Given the description of an element on the screen output the (x, y) to click on. 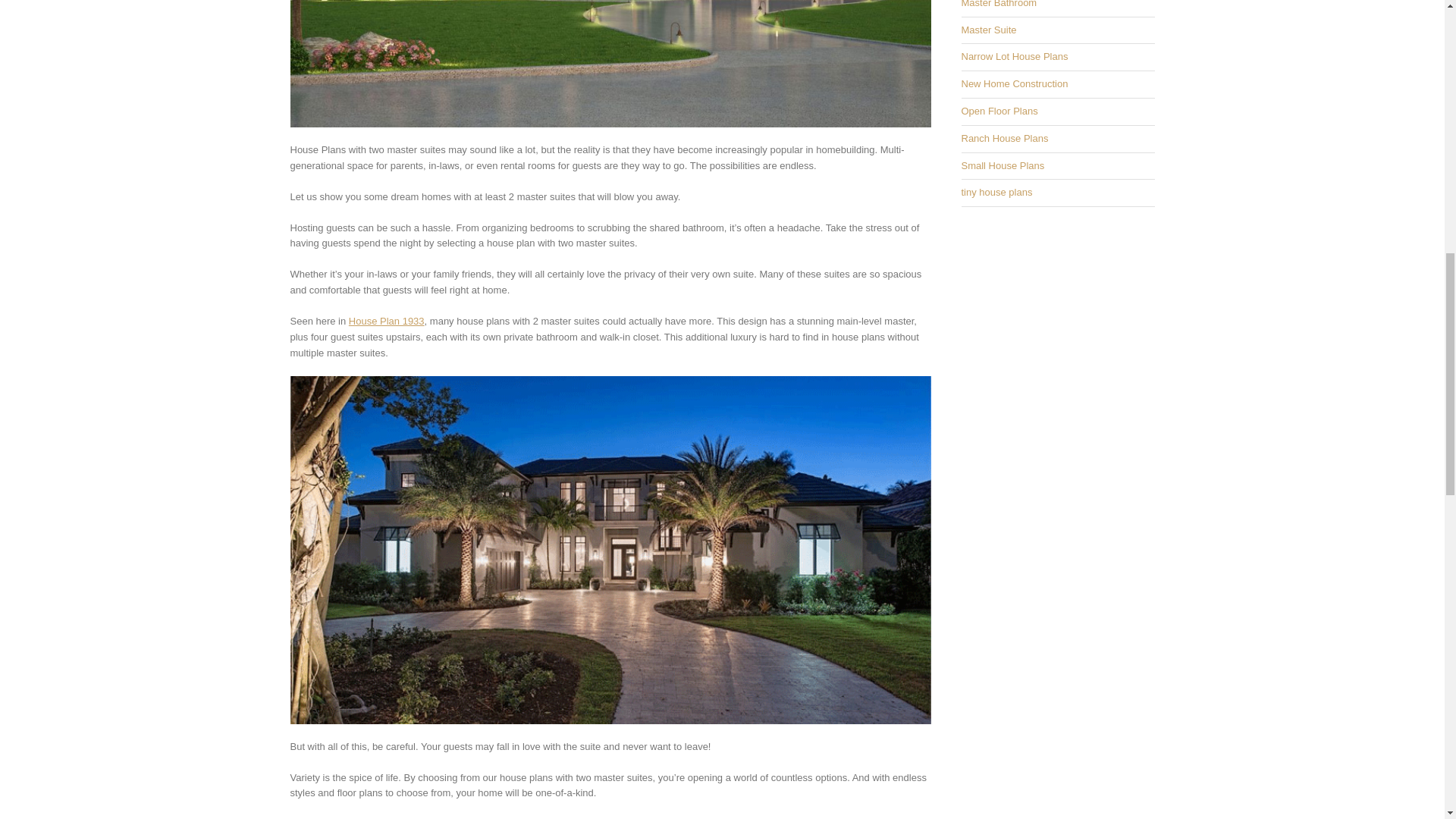
Ranch House Plans (1004, 138)
Master Suite (988, 30)
Narrow Lot House Plans (1014, 56)
Open Floor Plans (999, 111)
tiny house plans (996, 192)
New Home Construction (1014, 83)
Small House Plans (1002, 165)
House Plan 1933 (387, 320)
Master Bathroom (998, 4)
